Given the description of an element on the screen output the (x, y) to click on. 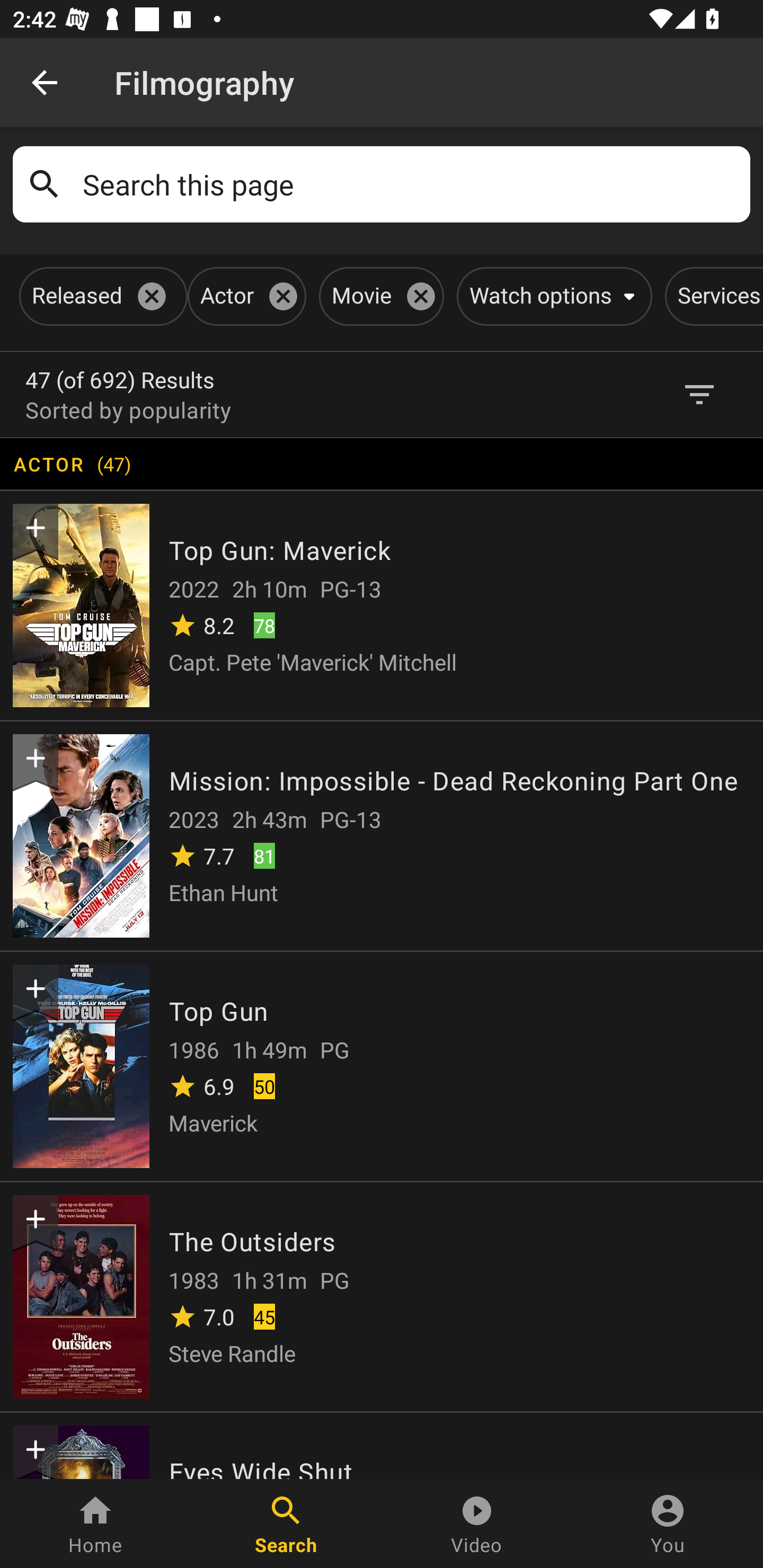
Search this page (410, 184)
Released (100, 296)
Actor (243, 296)
Movie (377, 296)
Watch options (551, 296)
Services (714, 296)
Top Gun 1986 1h 49m PG 6.9 50 Maverick (381, 1065)
The Outsiders 1983 1h 31m PG 7.0 45 Steve Randle (381, 1295)
Home (95, 1523)
Video (476, 1523)
You (667, 1523)
